Given the description of an element on the screen output the (x, y) to click on. 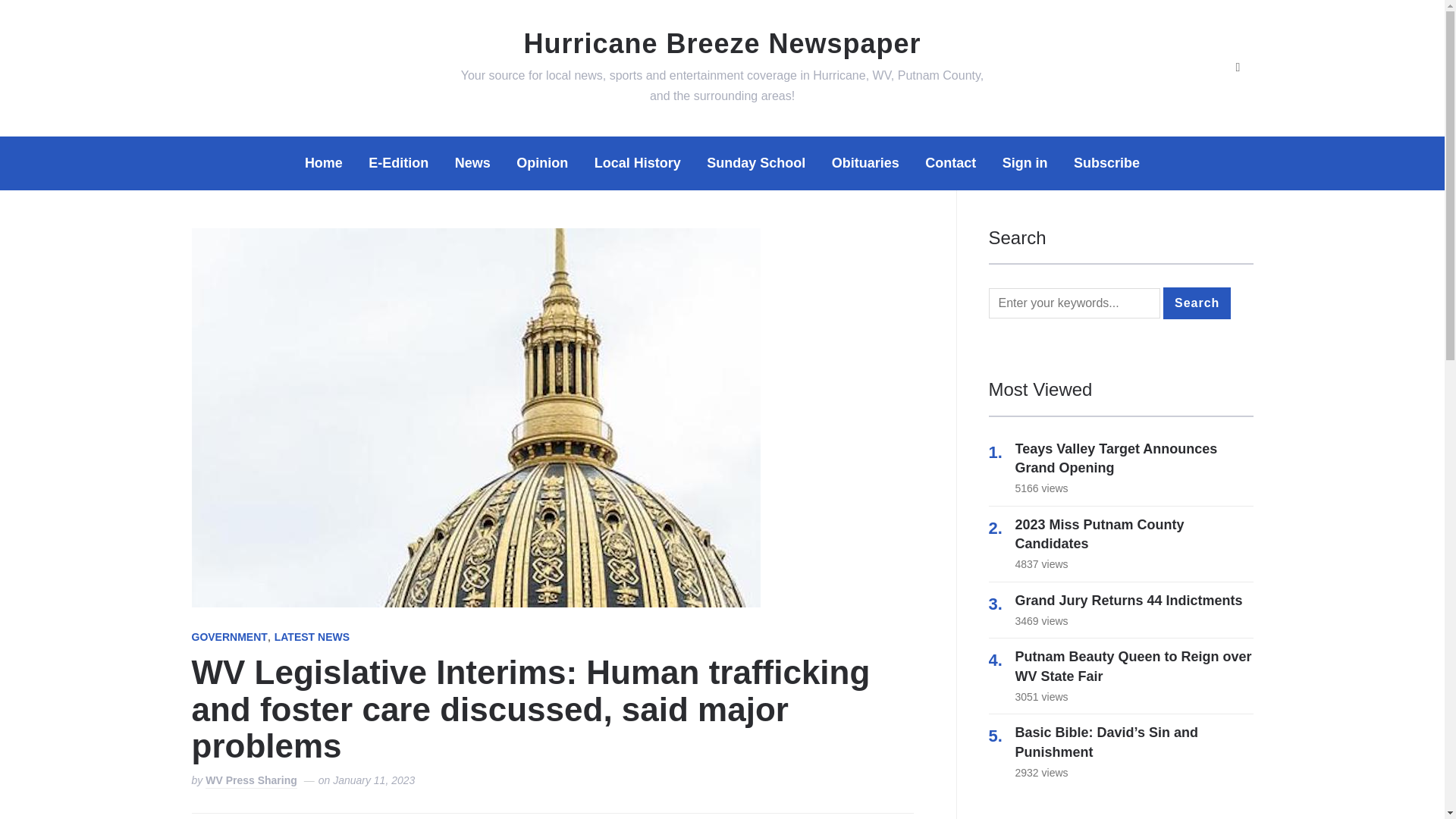
Obituaries (865, 163)
WV Press Sharing (251, 780)
Home (323, 163)
GOVERNMENT (228, 637)
Search (1196, 303)
Search (1196, 303)
Local History (637, 163)
Posts by WV Press Sharing (251, 780)
Subscribe (1107, 163)
